Given the description of an element on the screen output the (x, y) to click on. 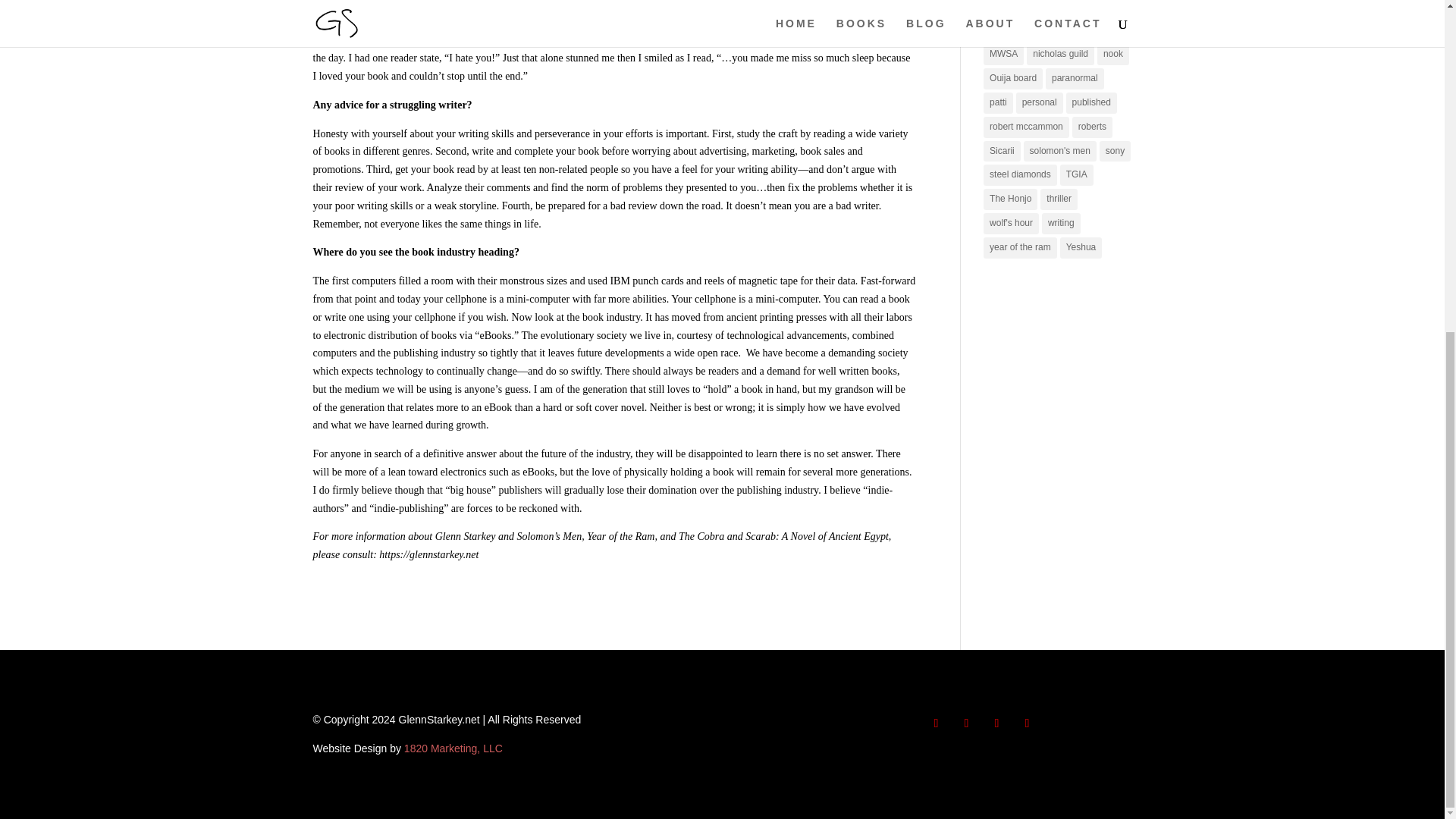
Micheal Rivers (1019, 30)
kindle (1040, 8)
Follow on Instagram (996, 723)
MIA (1075, 8)
Follow on Amazon (1026, 723)
Follow on X (965, 723)
itunes (1002, 8)
Website Design and Video Production (453, 748)
Follow on Facebook (935, 723)
